Given the description of an element on the screen output the (x, y) to click on. 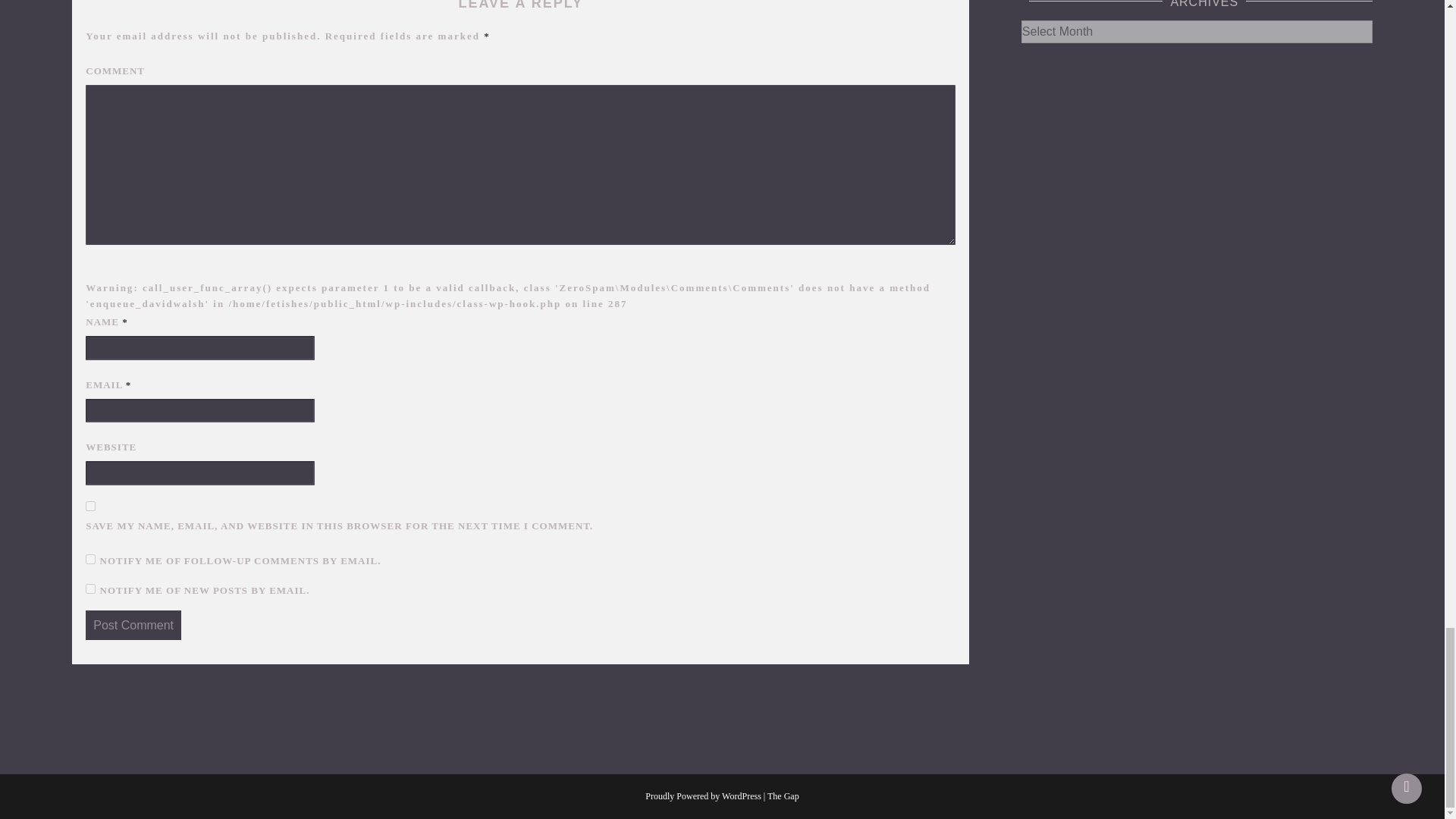
subscribe (90, 587)
Post Comment (132, 625)
yes (90, 506)
subscribe (90, 559)
